Given the description of an element on the screen output the (x, y) to click on. 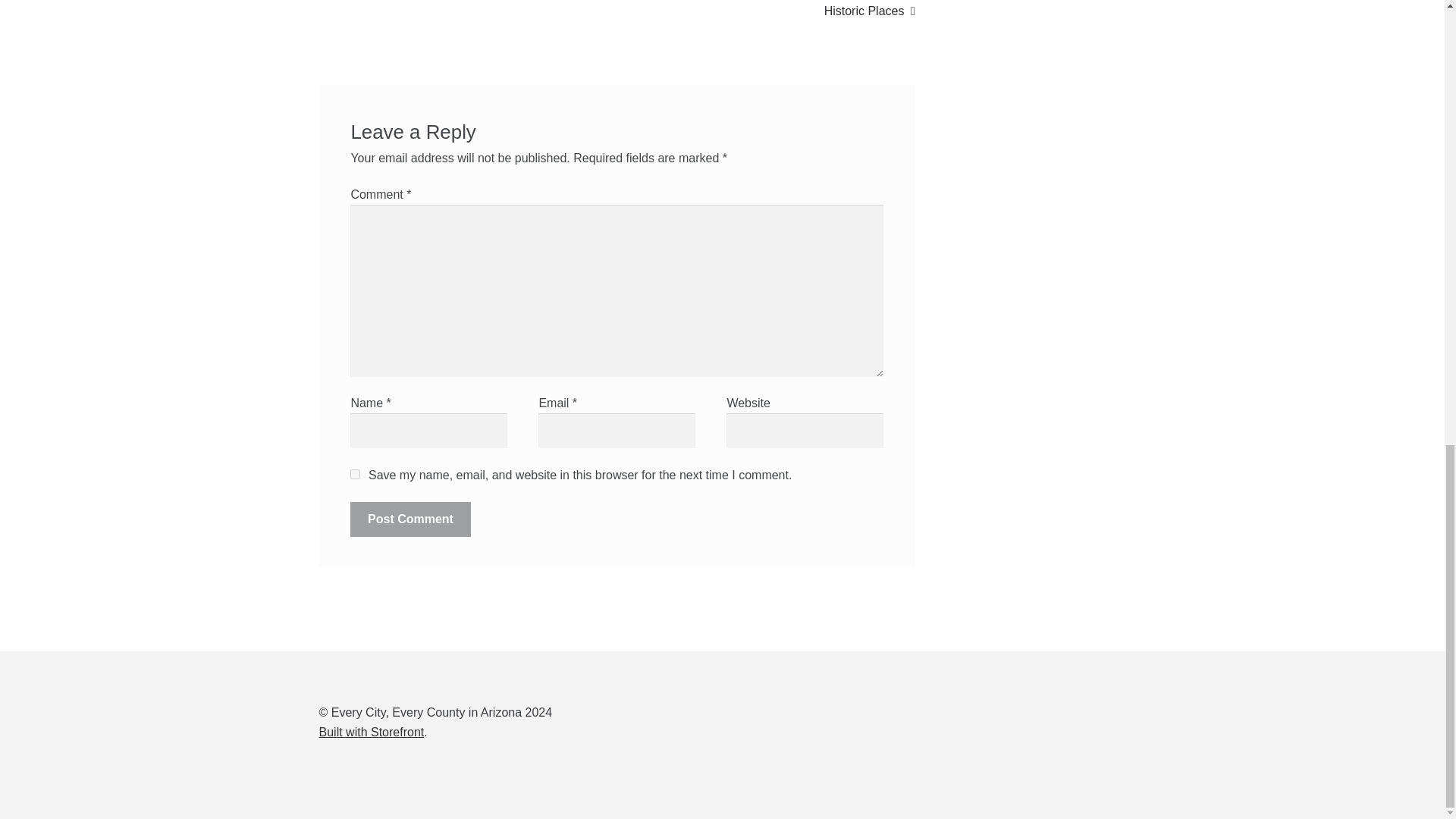
yes (354, 474)
Built with Storefront (371, 731)
Post Comment (410, 519)
Post Comment (410, 519)
